Given the description of an element on the screen output the (x, y) to click on. 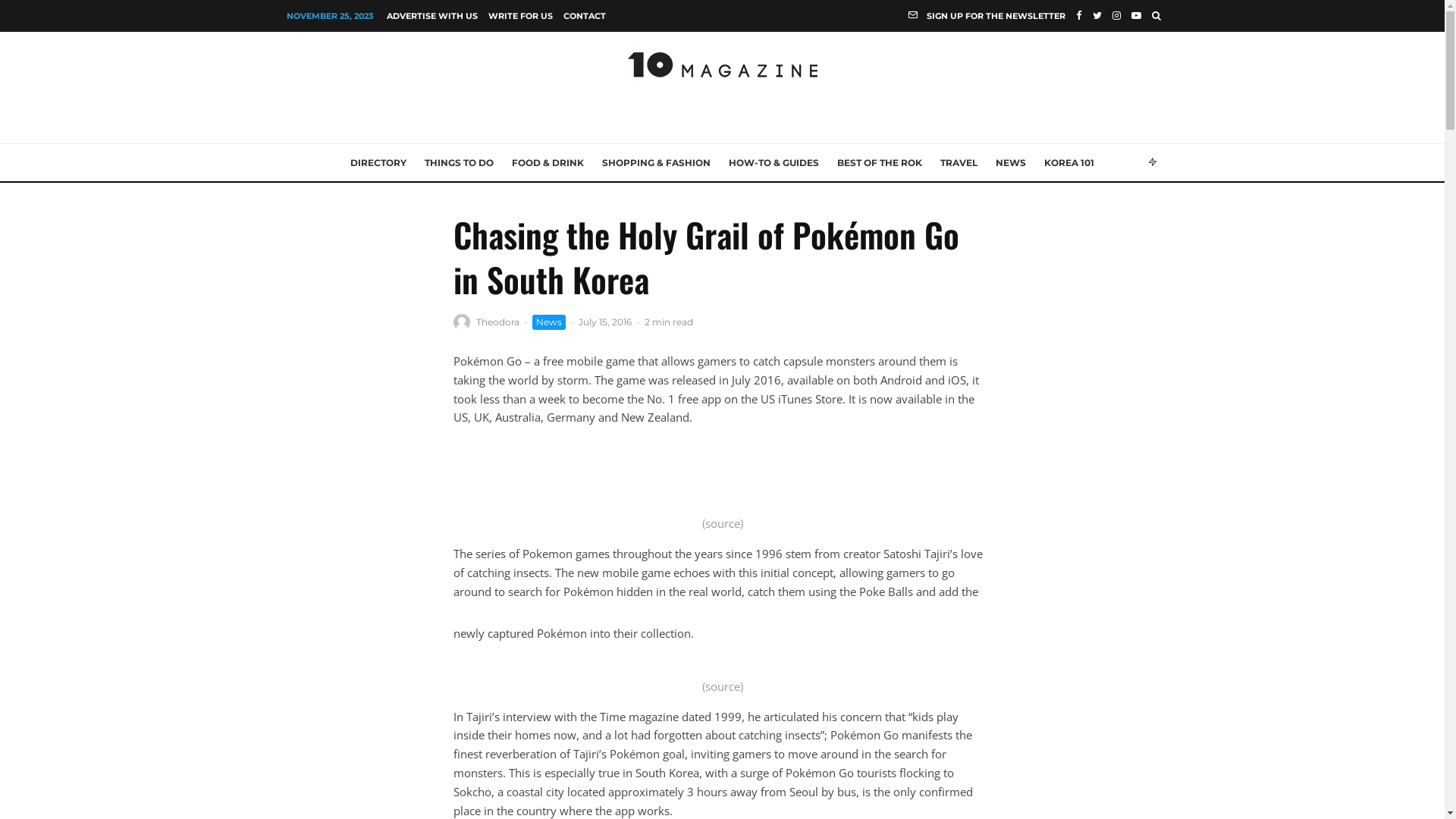
SHOPPING & FASHION Element type: text (656, 163)
News Element type: text (548, 321)
SIGN UP FOR THE NEWSLETTER Element type: text (986, 15)
DIRECTORY Element type: text (378, 163)
ADVERTISE WITH US Element type: text (431, 15)
Theodora Element type: text (497, 321)
HOW-TO & GUIDES Element type: text (773, 163)
Submit Element type: text (476, 523)
WRITE FOR US Element type: text (519, 15)
KOREA 101 Element type: text (1069, 163)
THINGS TO DO Element type: text (458, 163)
TRAVEL Element type: text (958, 163)
FOOD & DRINK Element type: text (547, 163)
CONTACT Element type: text (584, 15)
NEWS Element type: text (1010, 163)
BEST OF THE ROK Element type: text (879, 163)
(source) Element type: text (722, 685)
(source) Element type: text (722, 522)
